Given the description of an element on the screen output the (x, y) to click on. 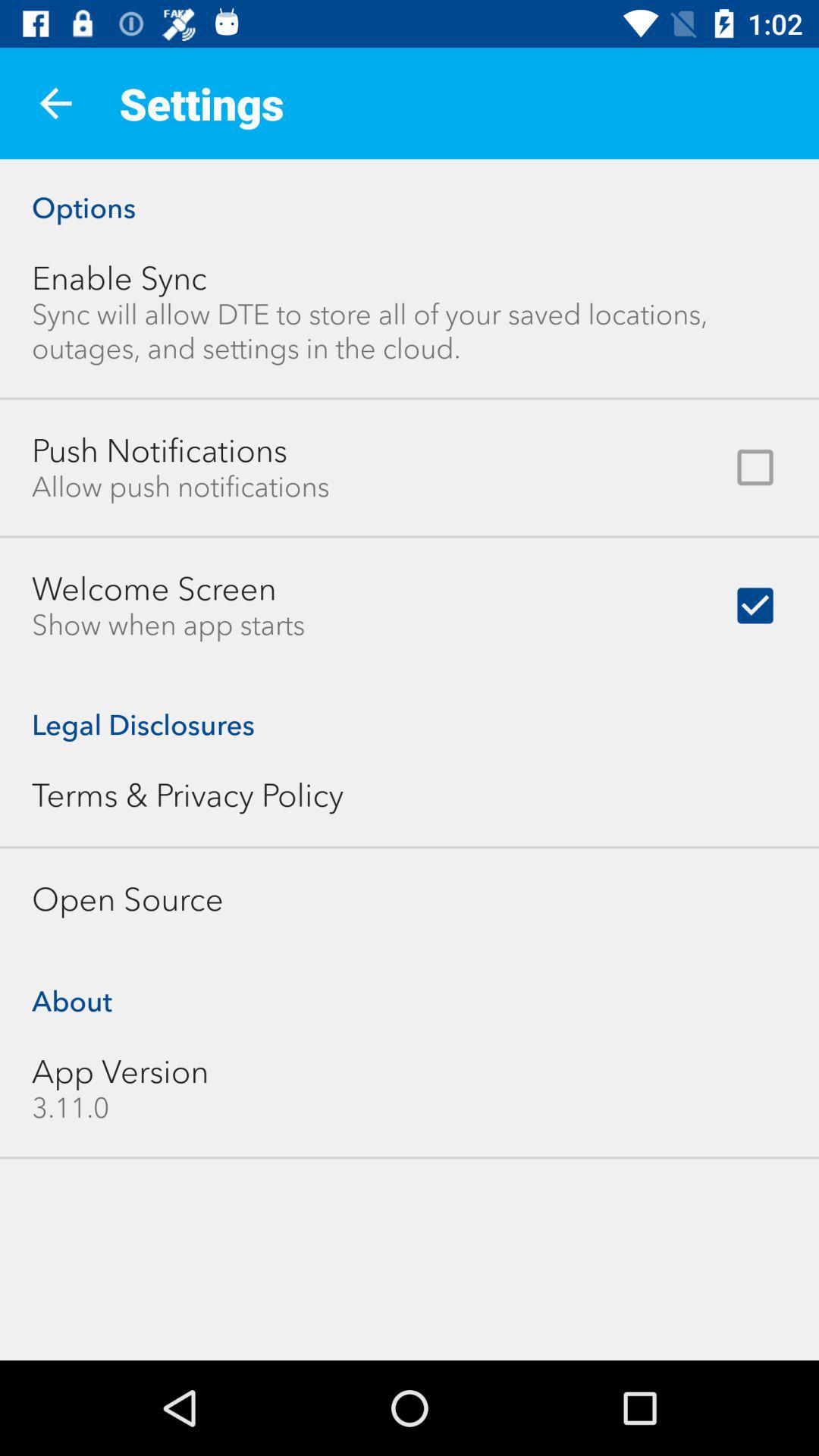
turn on the item above options (55, 103)
